Given the description of an element on the screen output the (x, y) to click on. 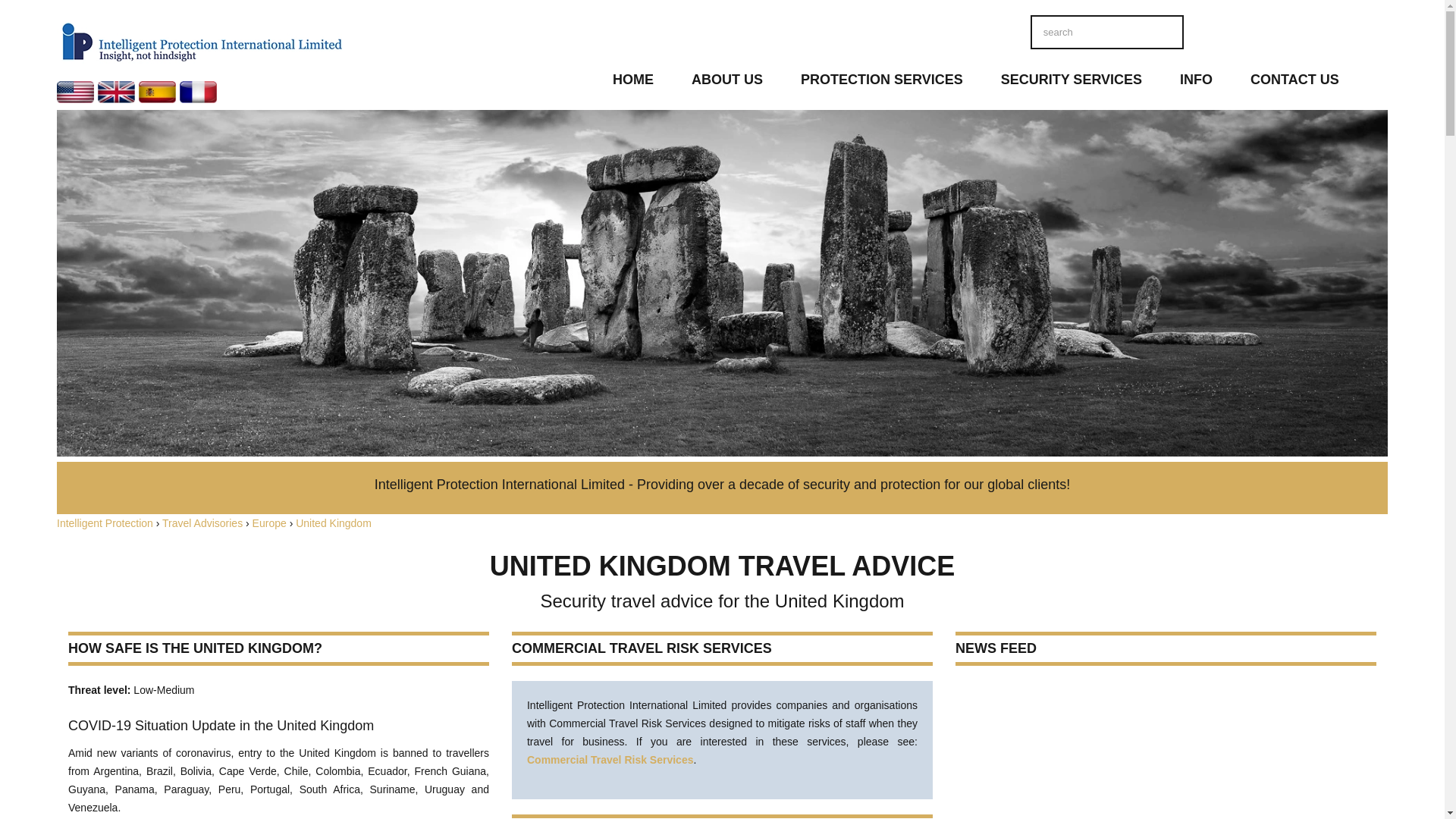
INFO (1195, 83)
SECURITY SERVICES (1070, 83)
ABOUT US (726, 83)
HOME (633, 83)
PROTECTION SERVICES (881, 83)
